Given the description of an element on the screen output the (x, y) to click on. 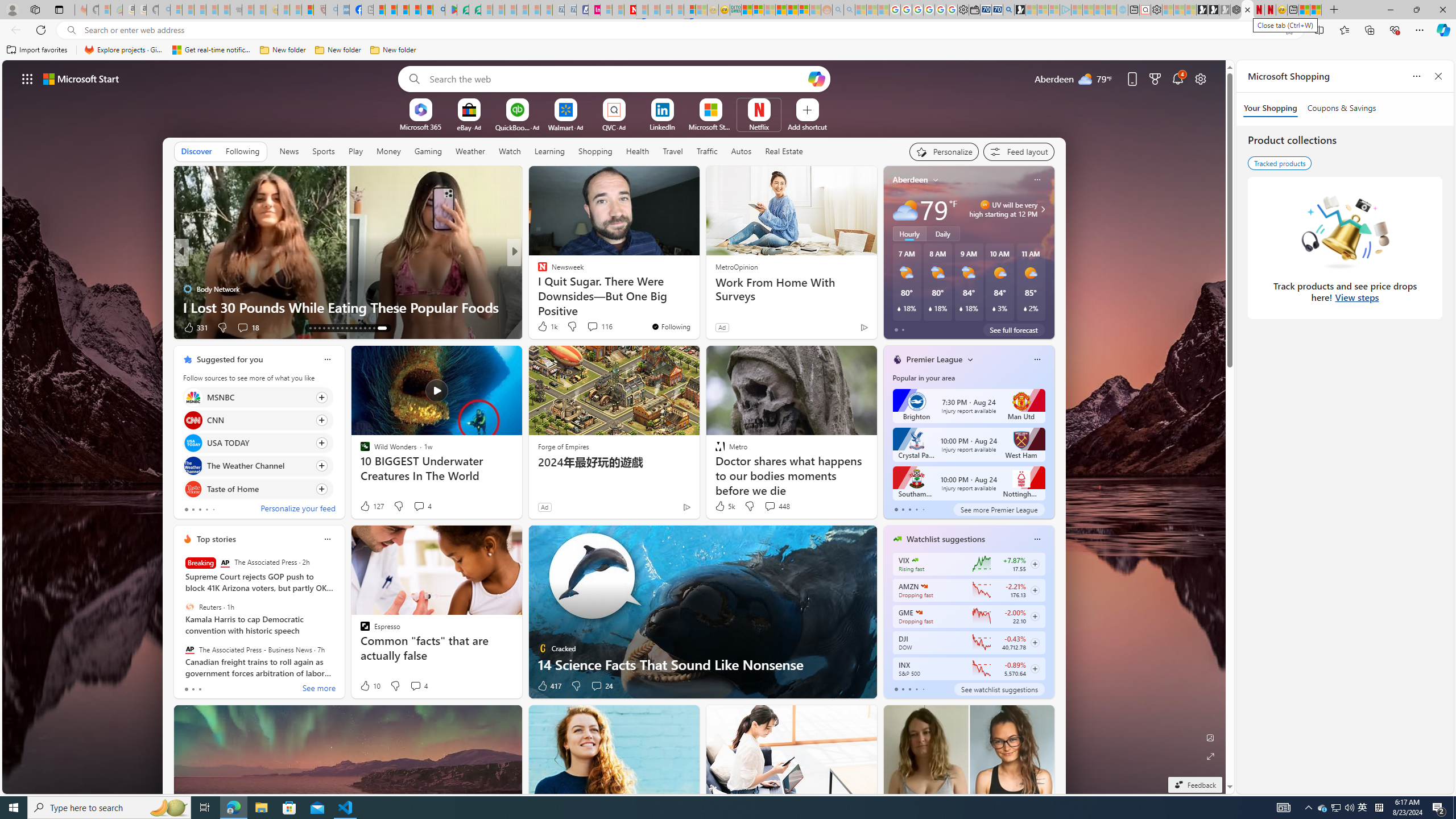
Pets - MSN (415, 9)
Class: weather-arrow-glyph (1043, 208)
Terms of Use Agreement (462, 9)
